Given the description of an element on the screen output the (x, y) to click on. 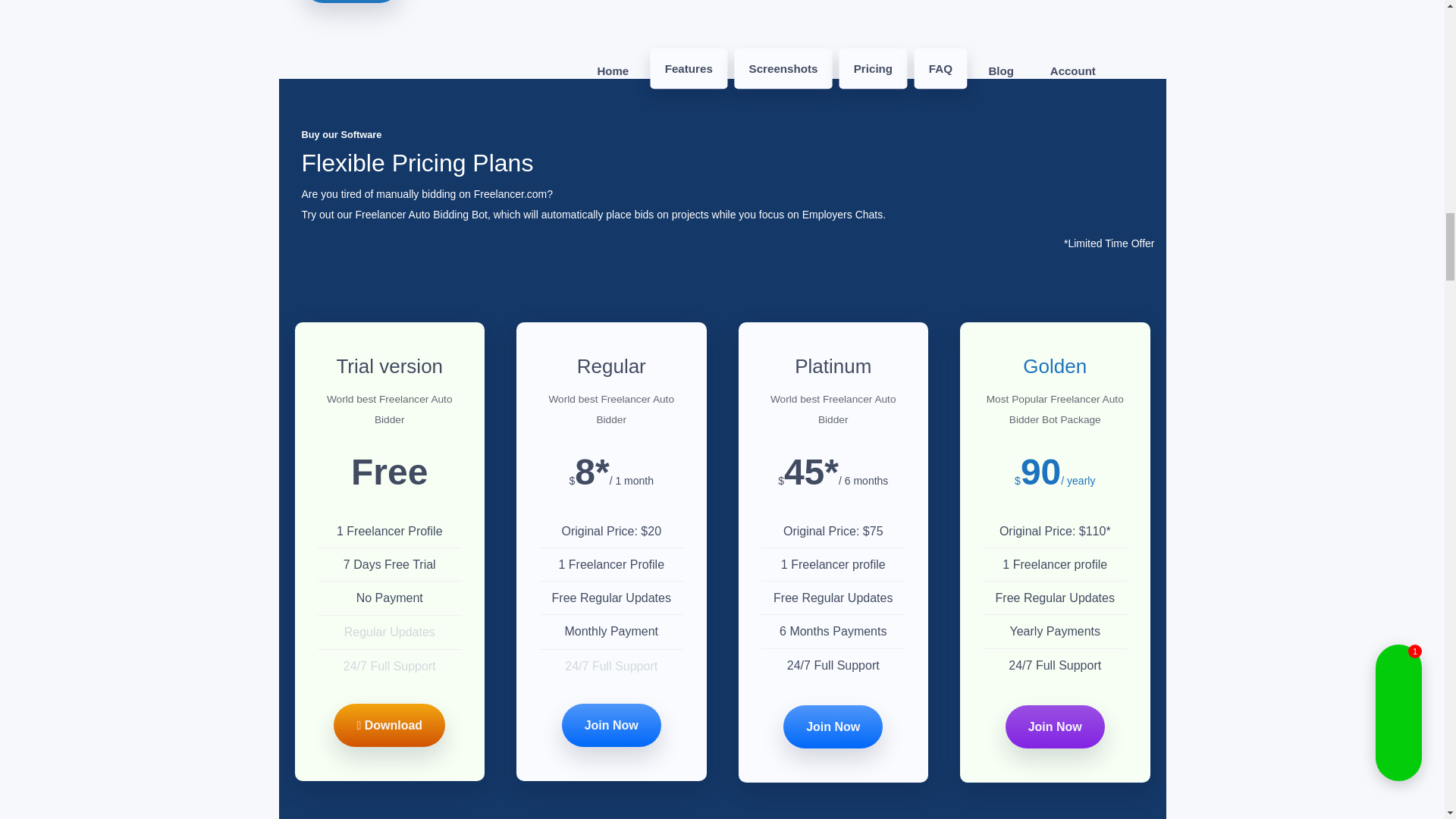
Join Now (611, 724)
Download (389, 724)
Join Now (832, 726)
Join Now (1055, 726)
